Given the description of an element on the screen output the (x, y) to click on. 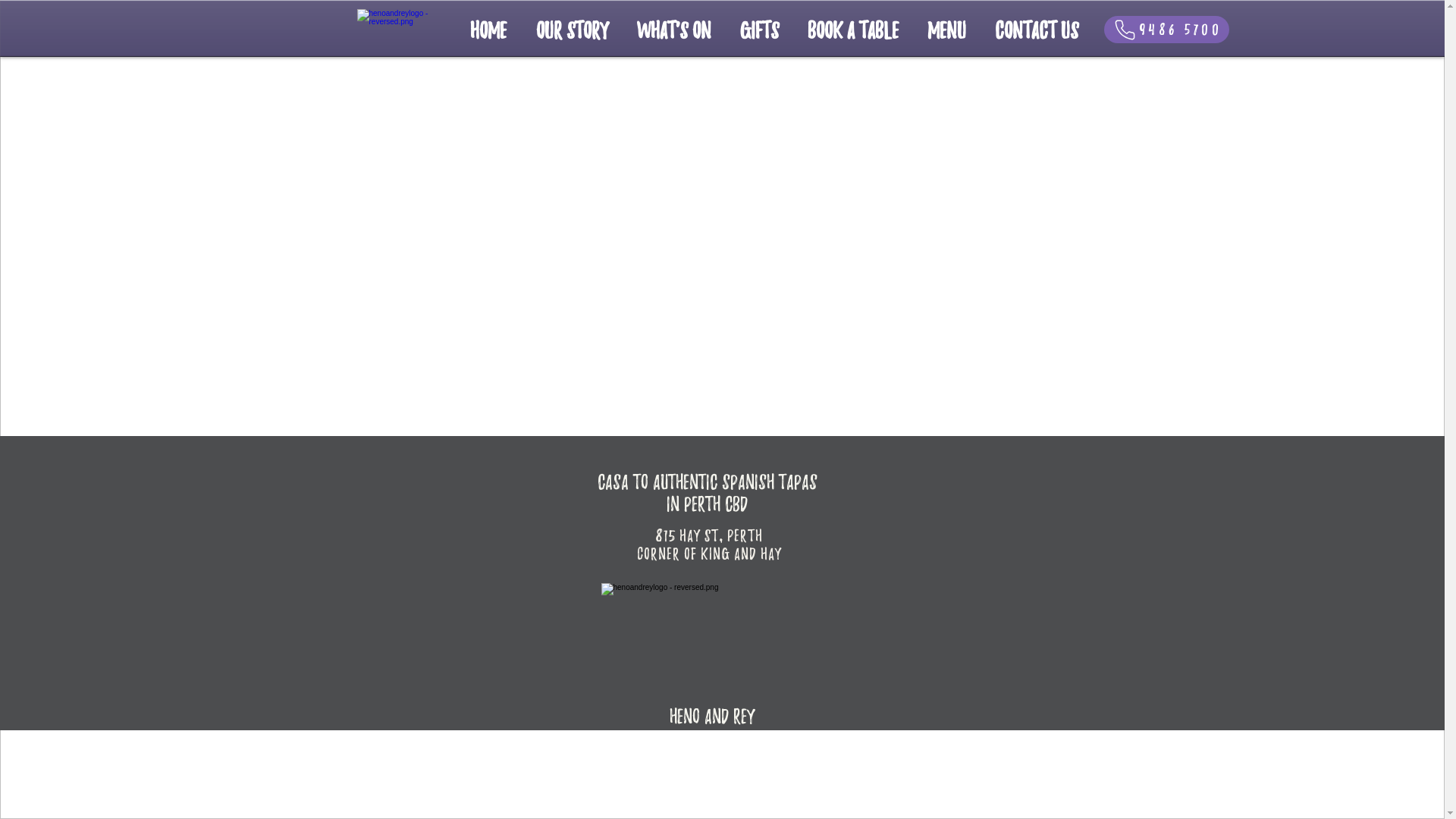
BOOK A TABLE Element type: text (853, 29)
9486 5700 Element type: text (1166, 29)
MENU Element type: text (946, 29)
WHAT'S ON Element type: text (672, 29)
CONTACT US Element type: text (1035, 29)
HOME Element type: text (487, 29)
GIFTS Element type: text (758, 29)
OUR STORY Element type: text (571, 29)
